Given the description of an element on the screen output the (x, y) to click on. 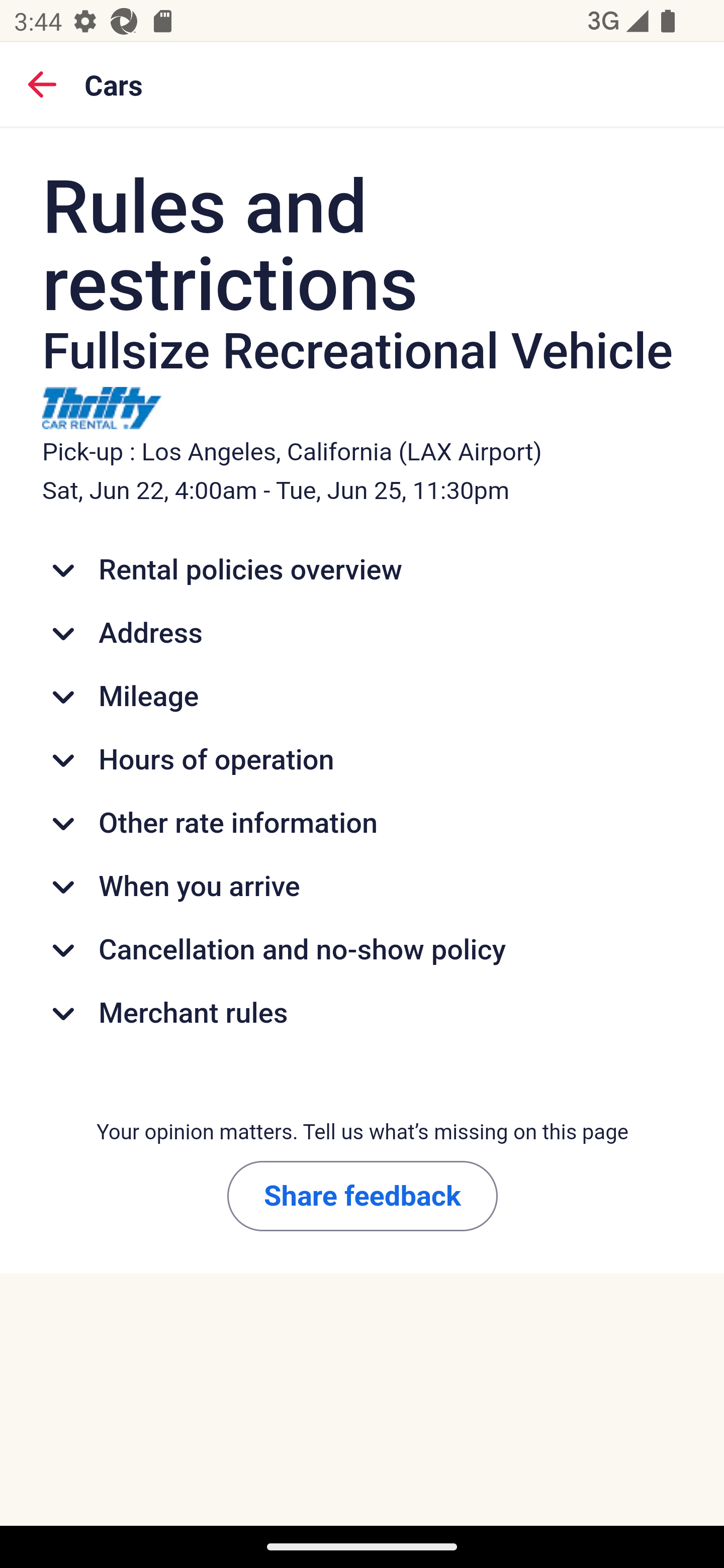
Back (41, 83)
Rental policies overview (362, 569)
Address (362, 632)
Mileage (362, 696)
Hours of operation (362, 760)
Other rate information (362, 823)
When you arrive (362, 887)
Cancellation and no-show policy (362, 950)
Merchant rules (362, 1013)
Share feedback (362, 1195)
